Given the description of an element on the screen output the (x, y) to click on. 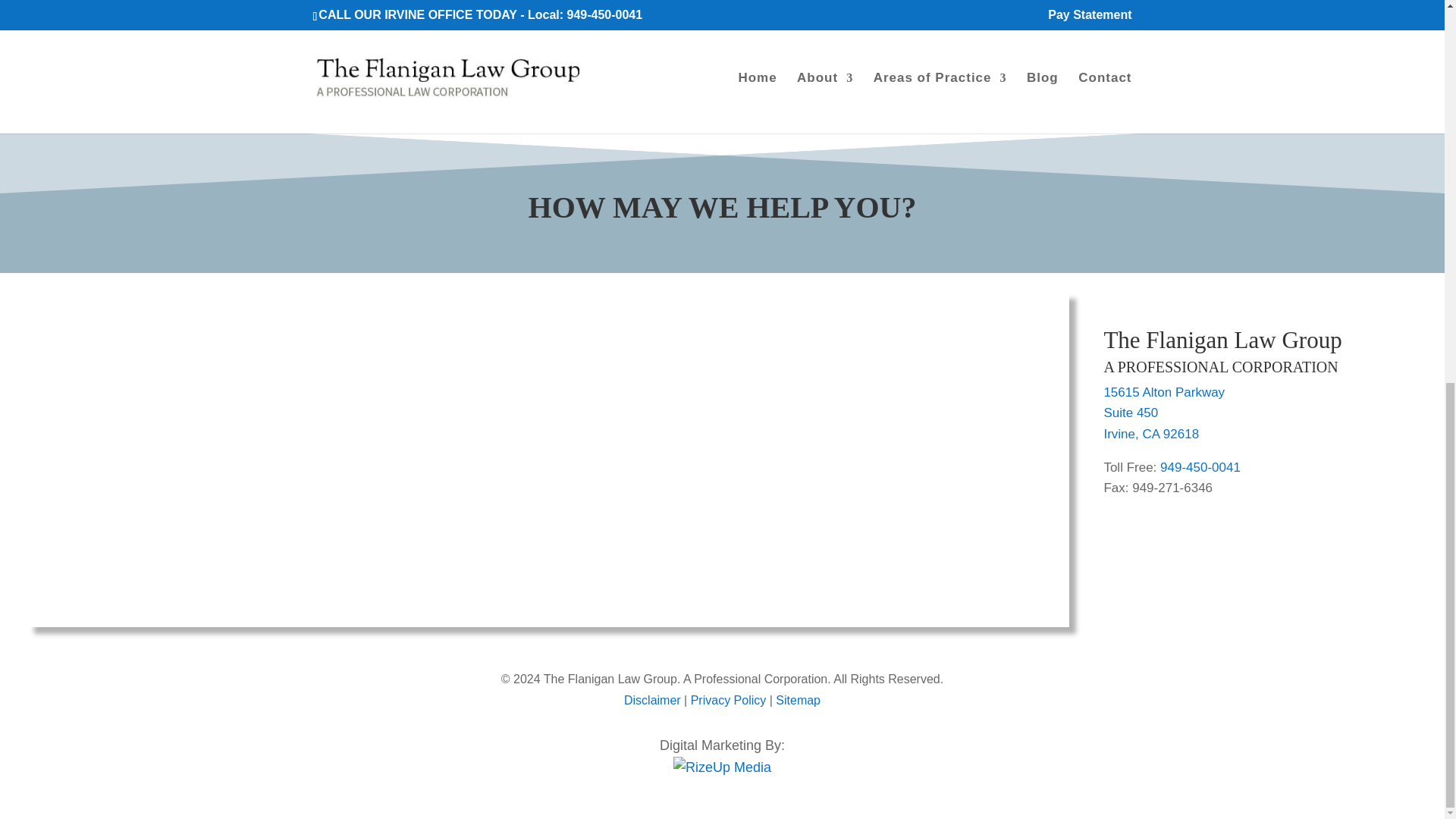
Disclaimer (652, 699)
15615 Alton Parkway (1163, 391)
Open in Google Maps (1150, 433)
Open in Google Maps (1163, 391)
Sitemap (798, 699)
Touch to Dial (1200, 467)
Irvine, CA 92618 (1150, 433)
949-450-0041 (1200, 467)
Privacy Policy (728, 699)
Open in Google Maps (1130, 412)
